Given the description of an element on the screen output the (x, y) to click on. 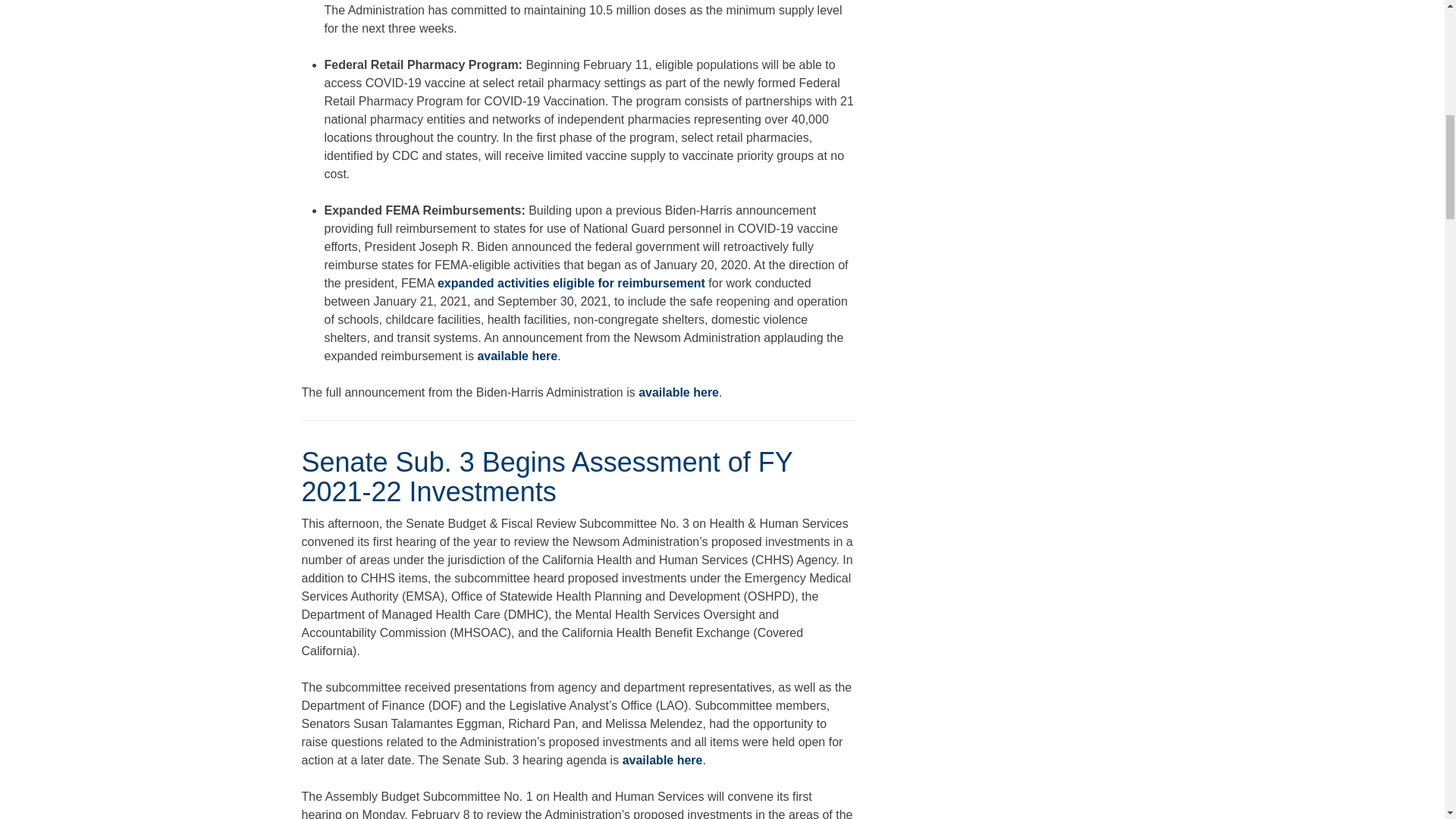
available here (517, 355)
expanded activities eligible for reimbursement (571, 282)
